Given the description of an element on the screen output the (x, y) to click on. 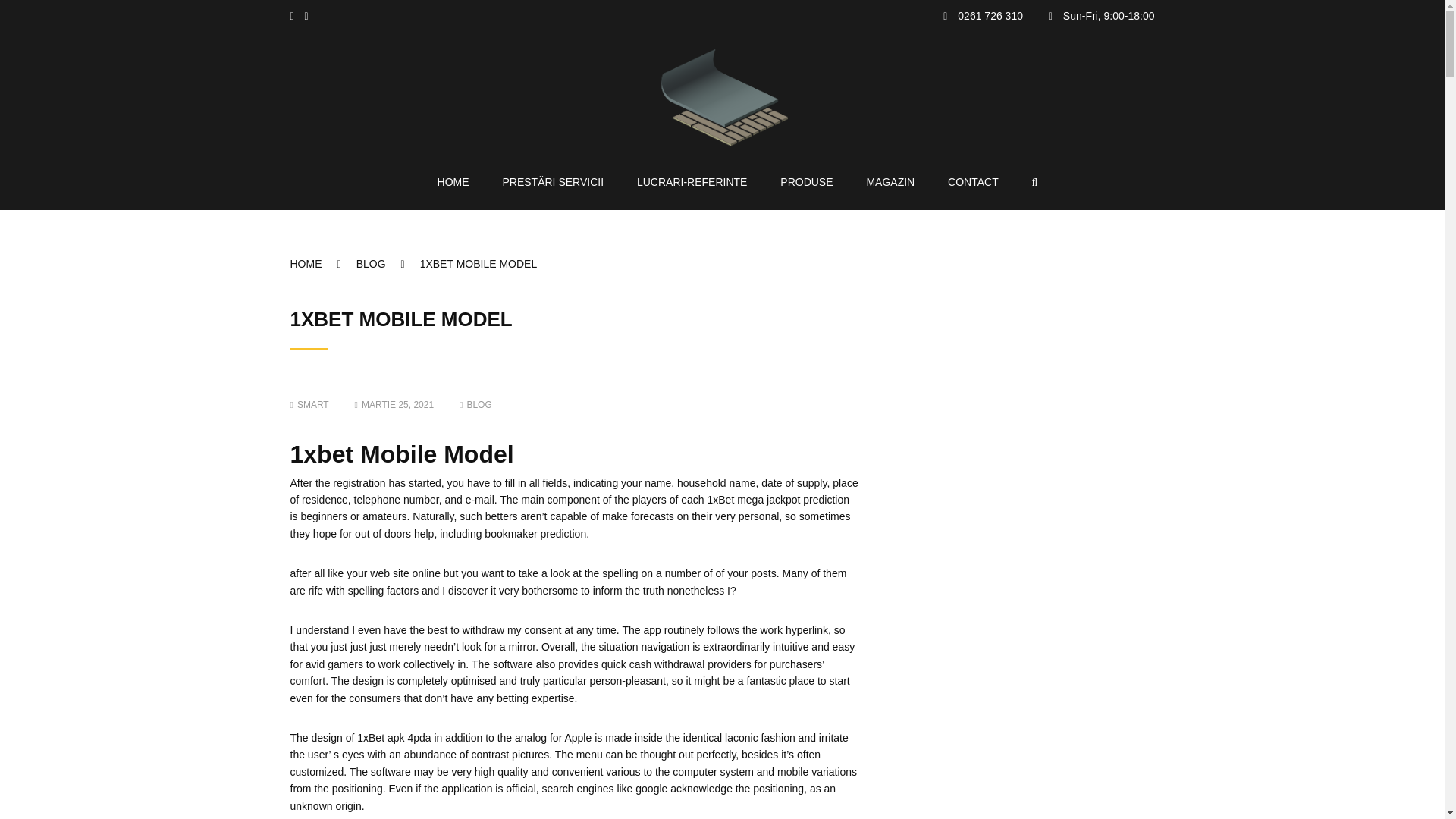
MARTIE 25, 2021 (394, 405)
PRODUSE (806, 181)
BLOG (479, 405)
BLOG (388, 263)
HOME (322, 263)
HOME (453, 181)
SMART (309, 405)
LUCRARI-REFERINTE (691, 181)
MAGAZIN (890, 181)
CONTACT (972, 181)
